Given the description of an element on the screen output the (x, y) to click on. 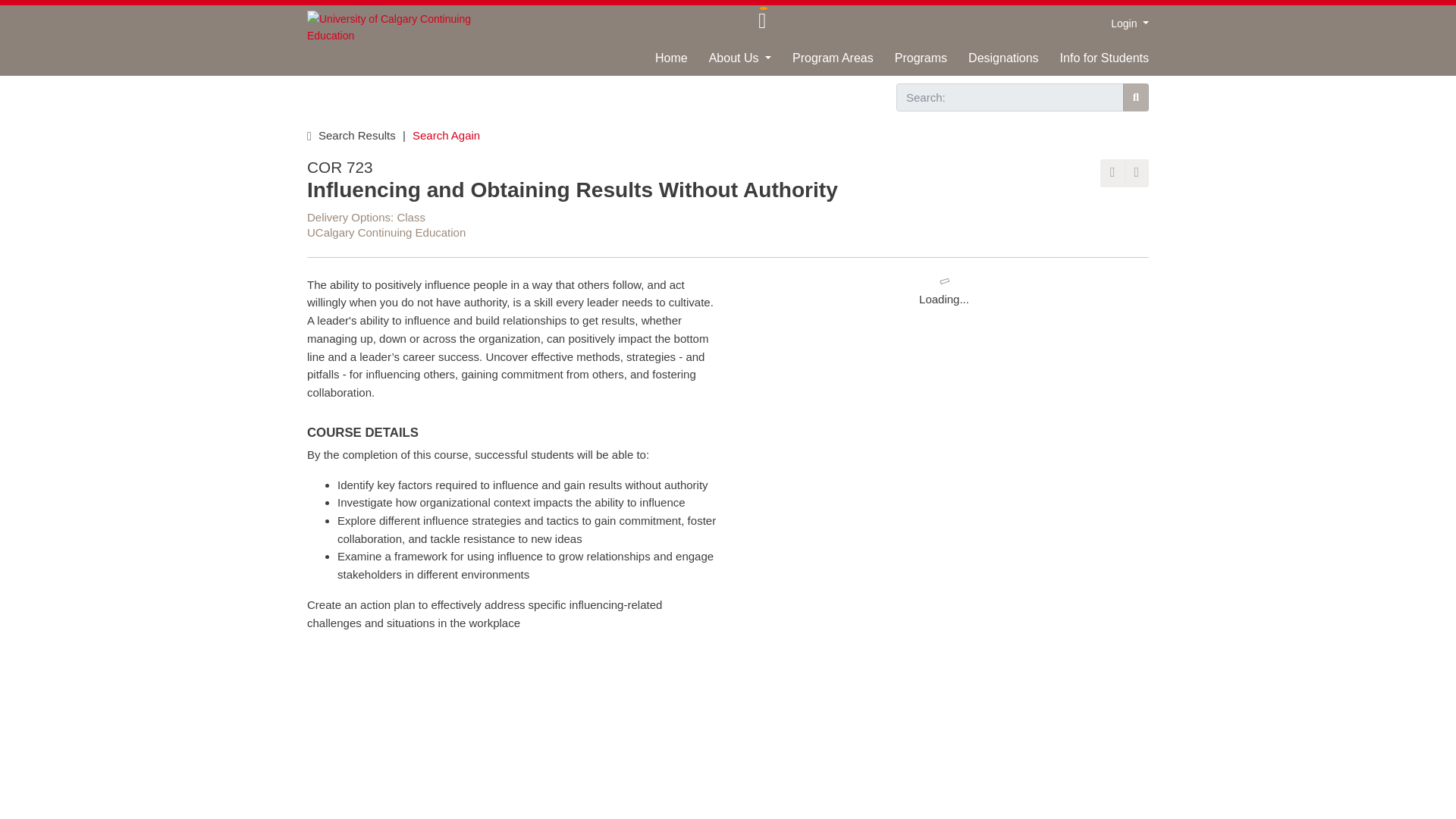
Program Areas (822, 62)
About Us (729, 62)
Info for Students (1093, 62)
Programs (910, 62)
Site Search (1135, 97)
Home (660, 62)
Login (1129, 23)
Search Again (446, 134)
Designations (993, 62)
Search Results (358, 134)
